Given the description of an element on the screen output the (x, y) to click on. 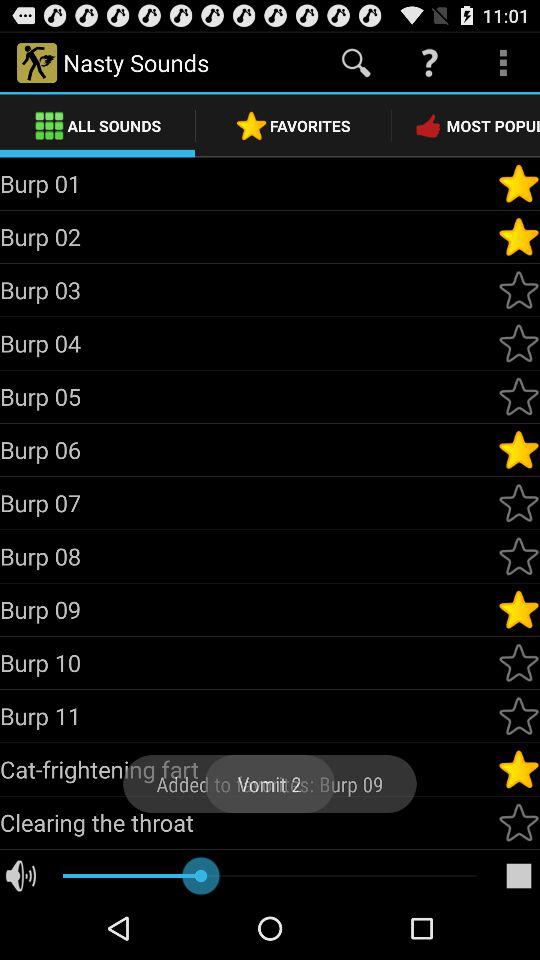
favorite (519, 503)
